Given the description of an element on the screen output the (x, y) to click on. 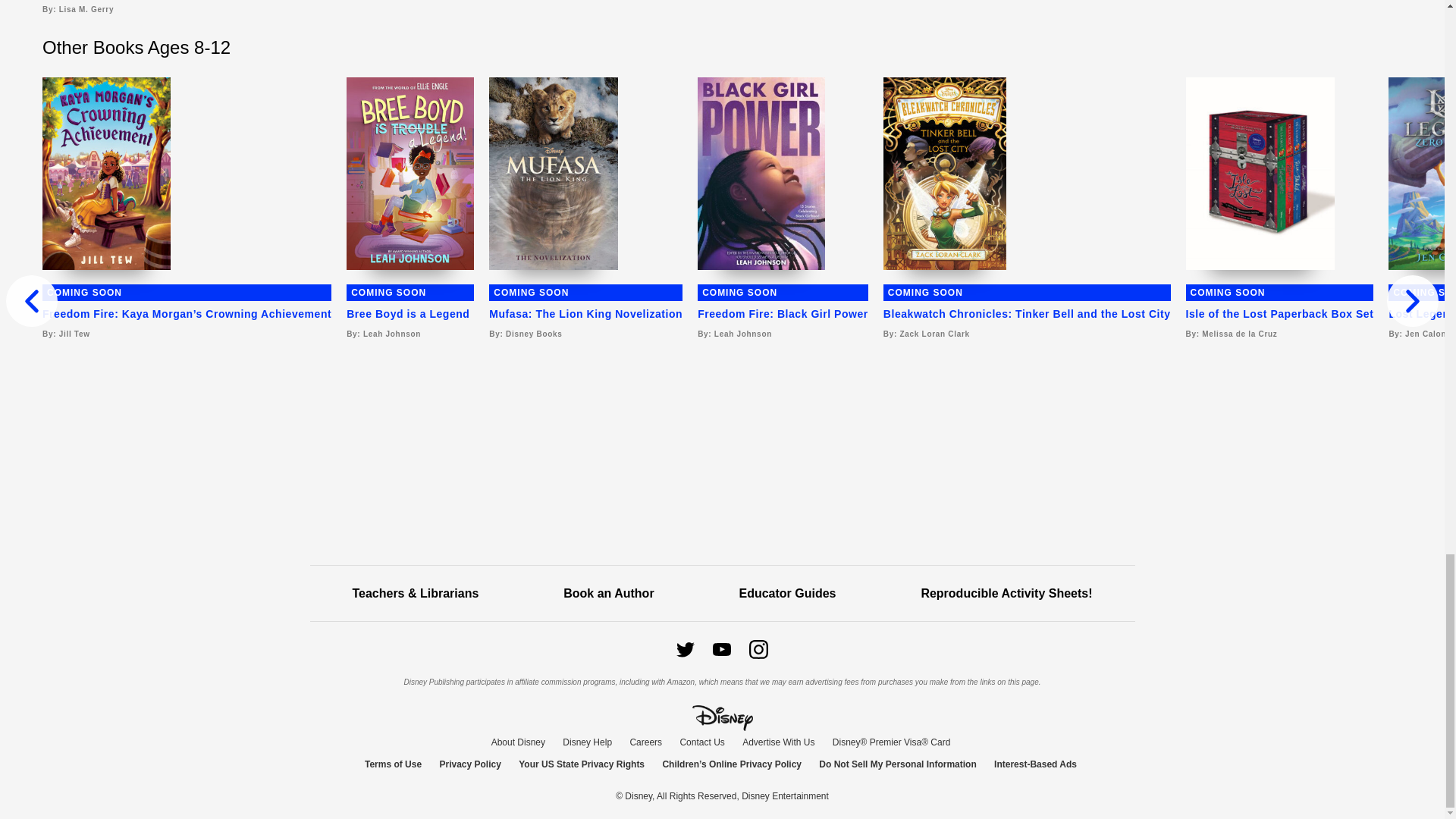
Youtube (721, 649)
Instagram (758, 649)
Twitter (685, 649)
